Given the description of an element on the screen output the (x, y) to click on. 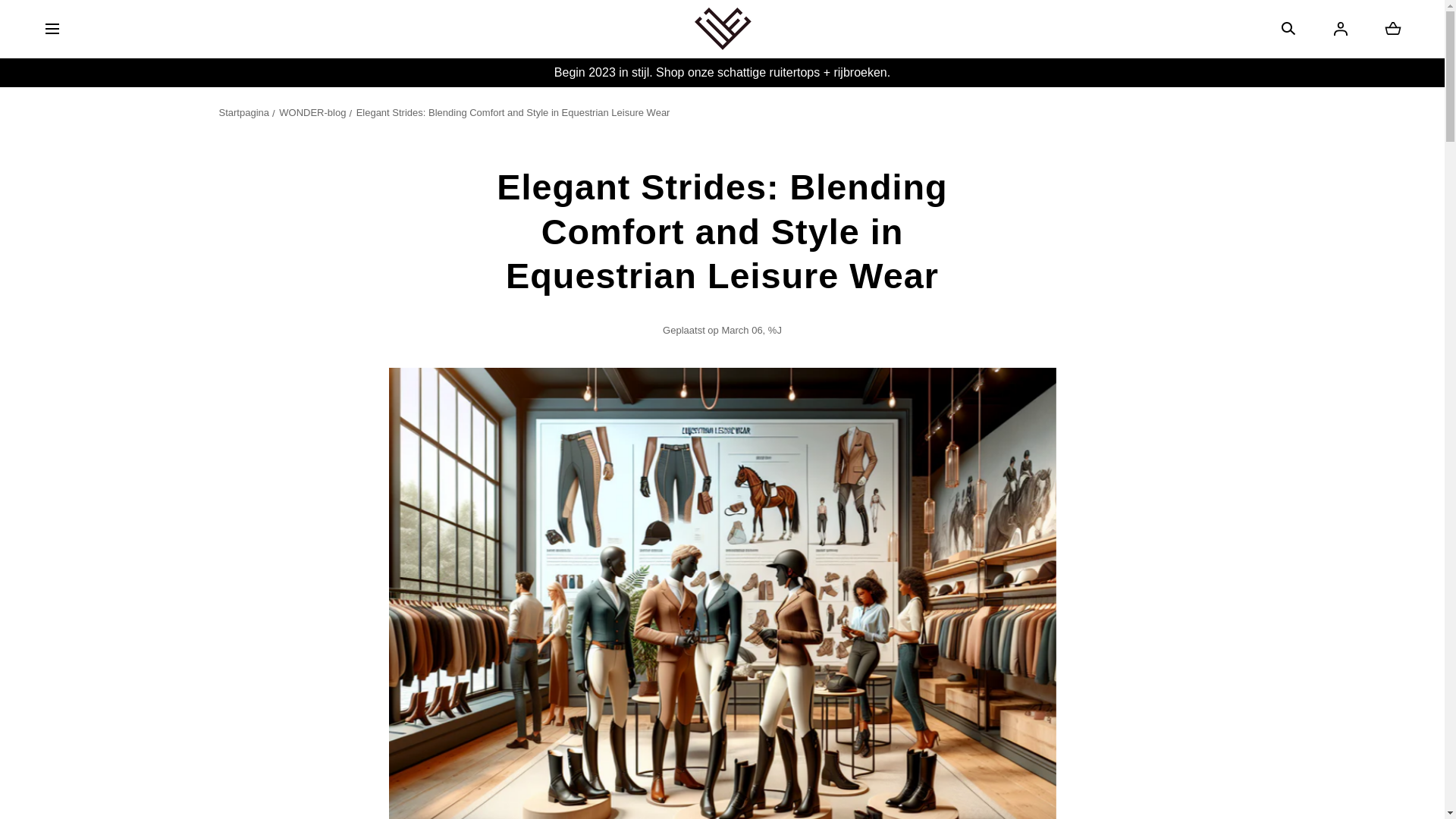
Inloggen (1340, 28)
Wonder Equestrian (721, 28)
DOORGAAN NAAR ARTIKEL (80, 18)
WONDER-blog (1393, 28)
Startpagina (316, 112)
